Given the description of an element on the screen output the (x, y) to click on. 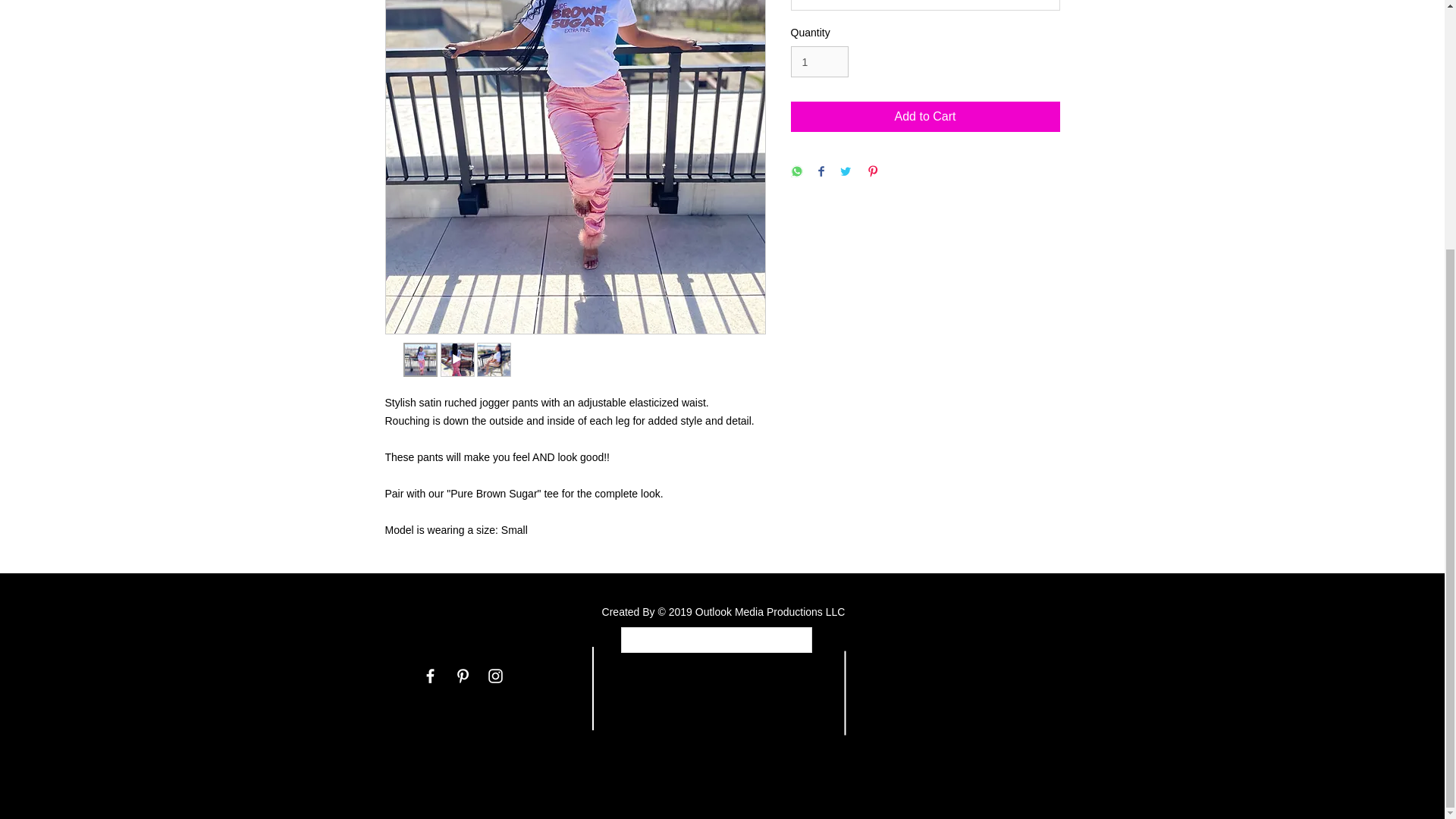
1 (818, 60)
